Given the description of an element on the screen output the (x, y) to click on. 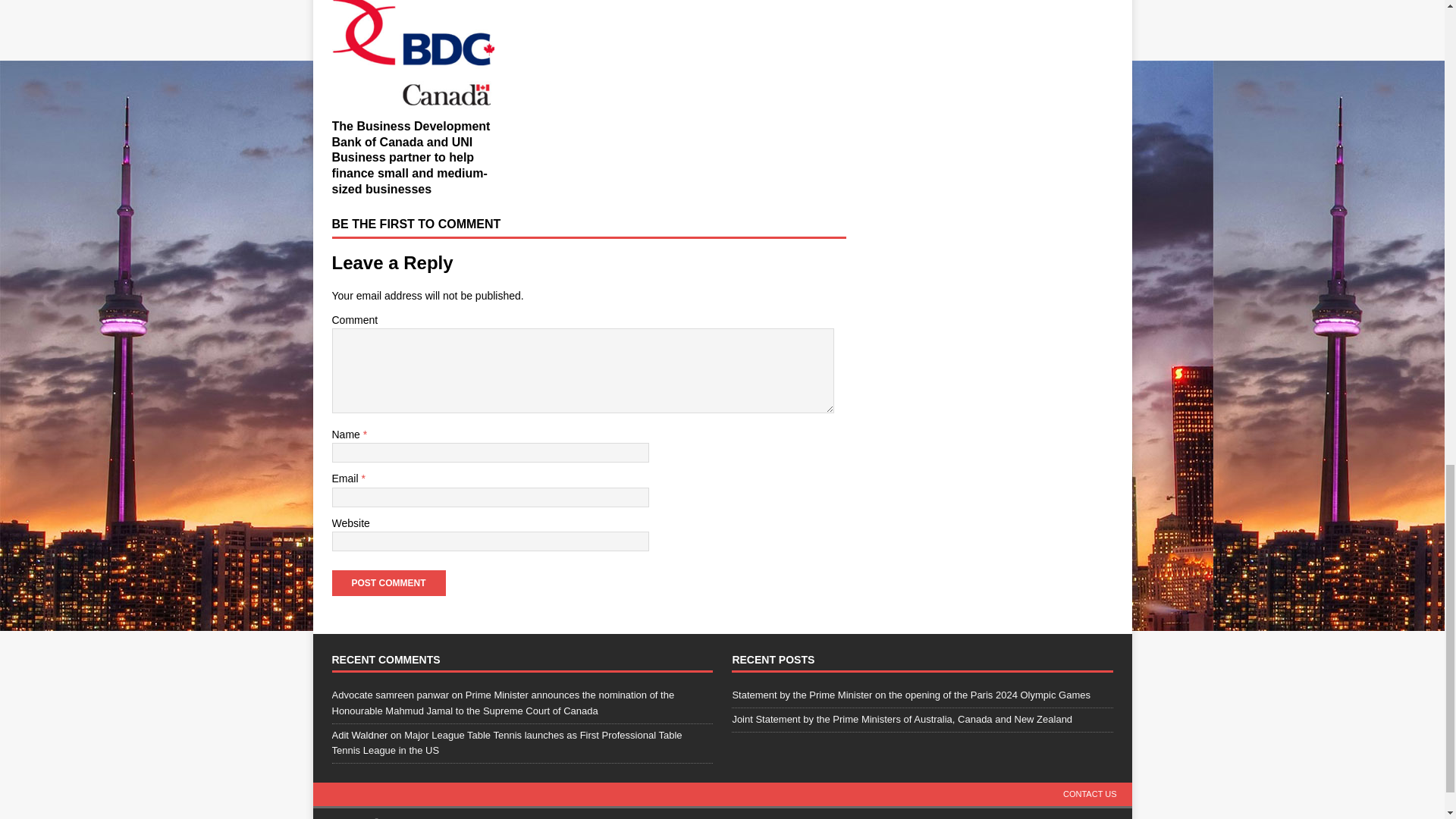
Post Comment (388, 583)
